Given the description of an element on the screen output the (x, y) to click on. 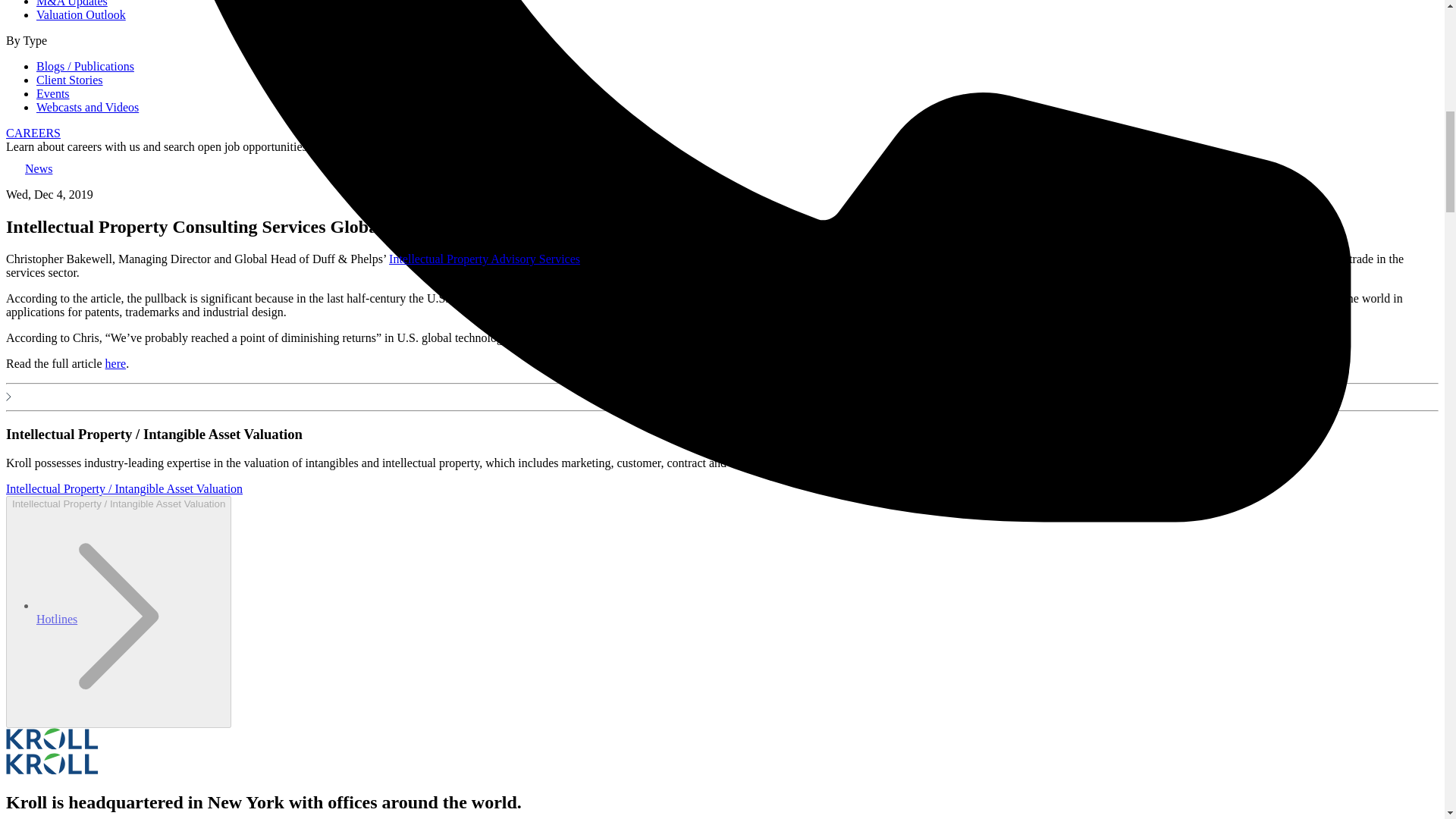
Phone (56, 618)
Hotlines (56, 618)
